Given the description of an element on the screen output the (x, y) to click on. 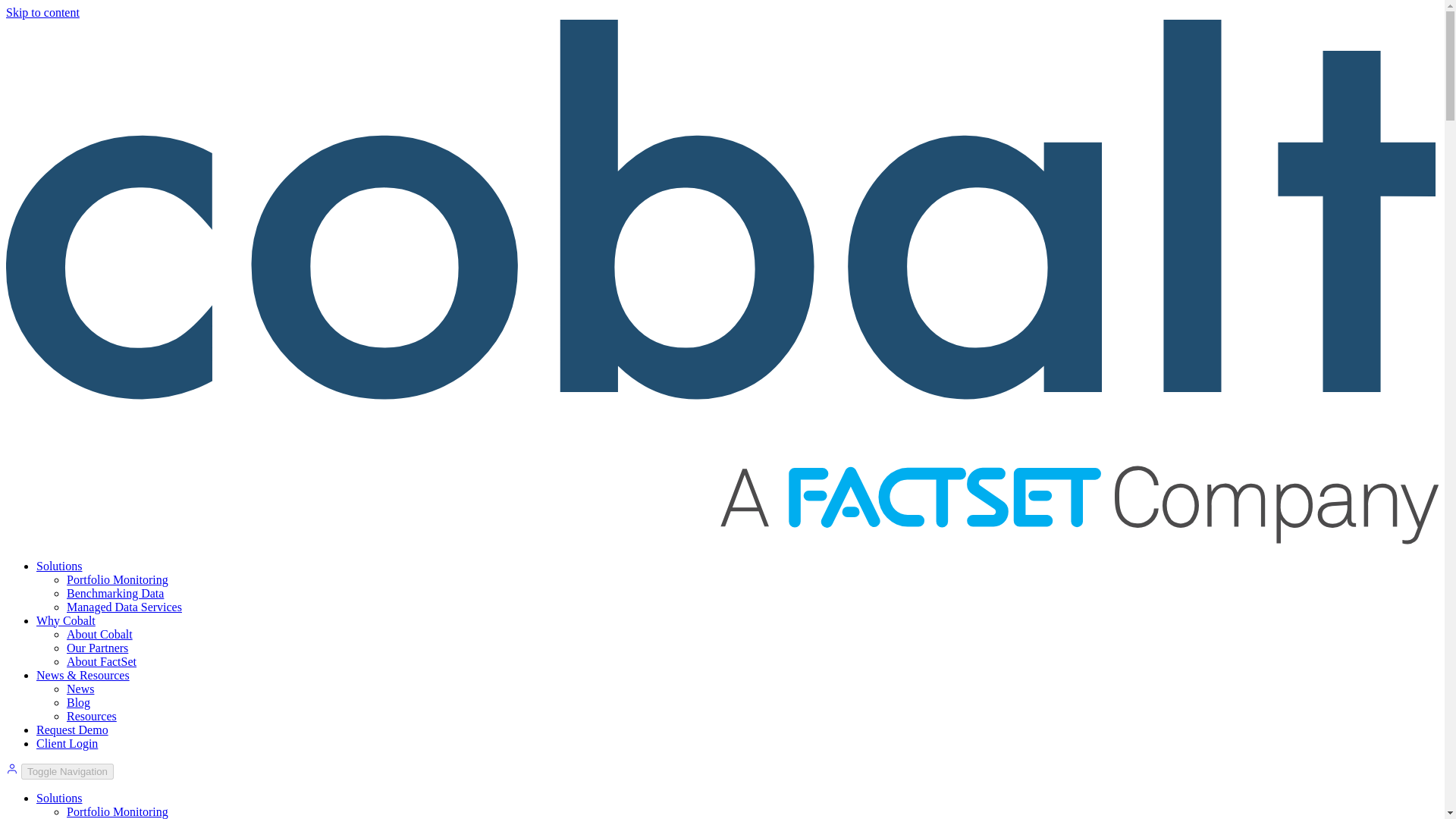
News (80, 688)
Client Login (66, 743)
Benchmarking Data (114, 593)
Solutions (58, 565)
Blog (78, 702)
Request Demo (71, 729)
About Cobalt (99, 634)
Portfolio Monitoring (117, 811)
Solutions (58, 797)
Portfolio Monitoring (117, 579)
About FactSet (101, 661)
Toggle Navigation (67, 771)
Resources (91, 716)
Managed Data Services (124, 606)
Why Cobalt (66, 620)
